Given the description of an element on the screen output the (x, y) to click on. 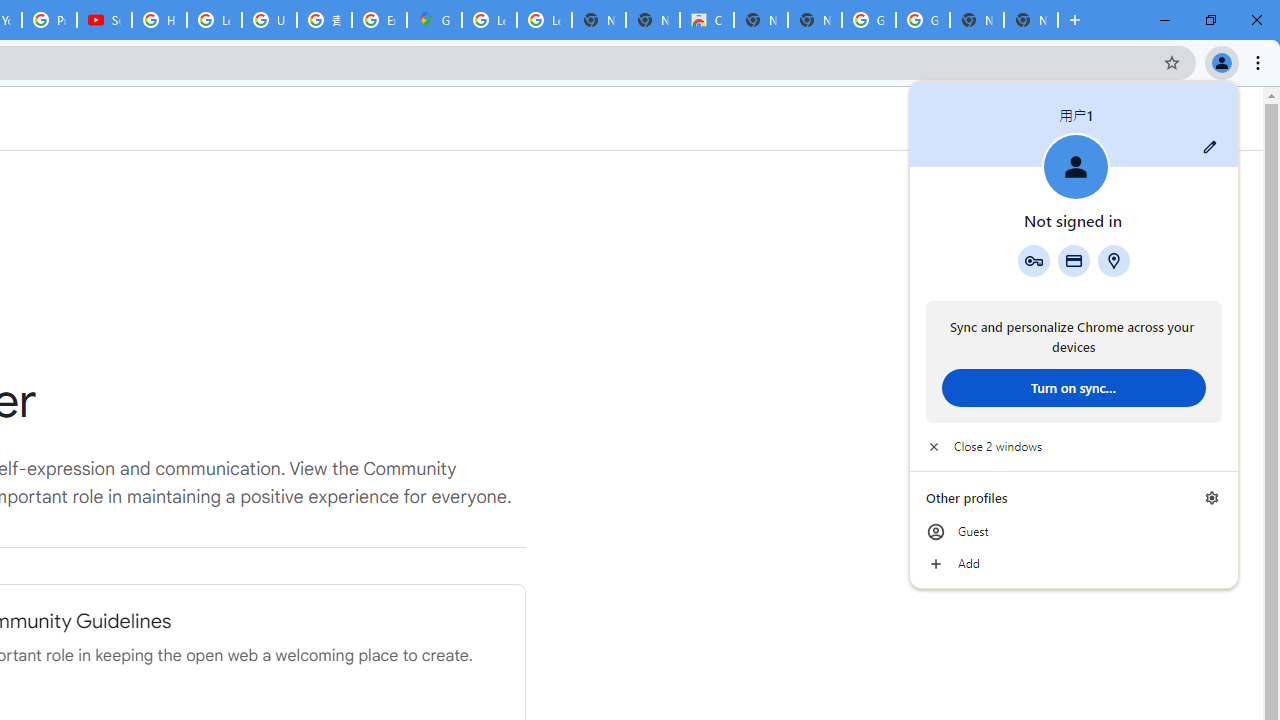
Customize profile (1210, 147)
How Chrome protects your passwords - Google Chrome Help (158, 20)
Chrome Web Store (706, 20)
Addresses and more (1114, 260)
Manage profiles (1211, 498)
Close 2 windows (1073, 446)
Guest (1073, 531)
Google Password Manager (1033, 260)
Explore new street-level details - Google Maps Help (379, 20)
Google Images (922, 20)
